Given the description of an element on the screen output the (x, y) to click on. 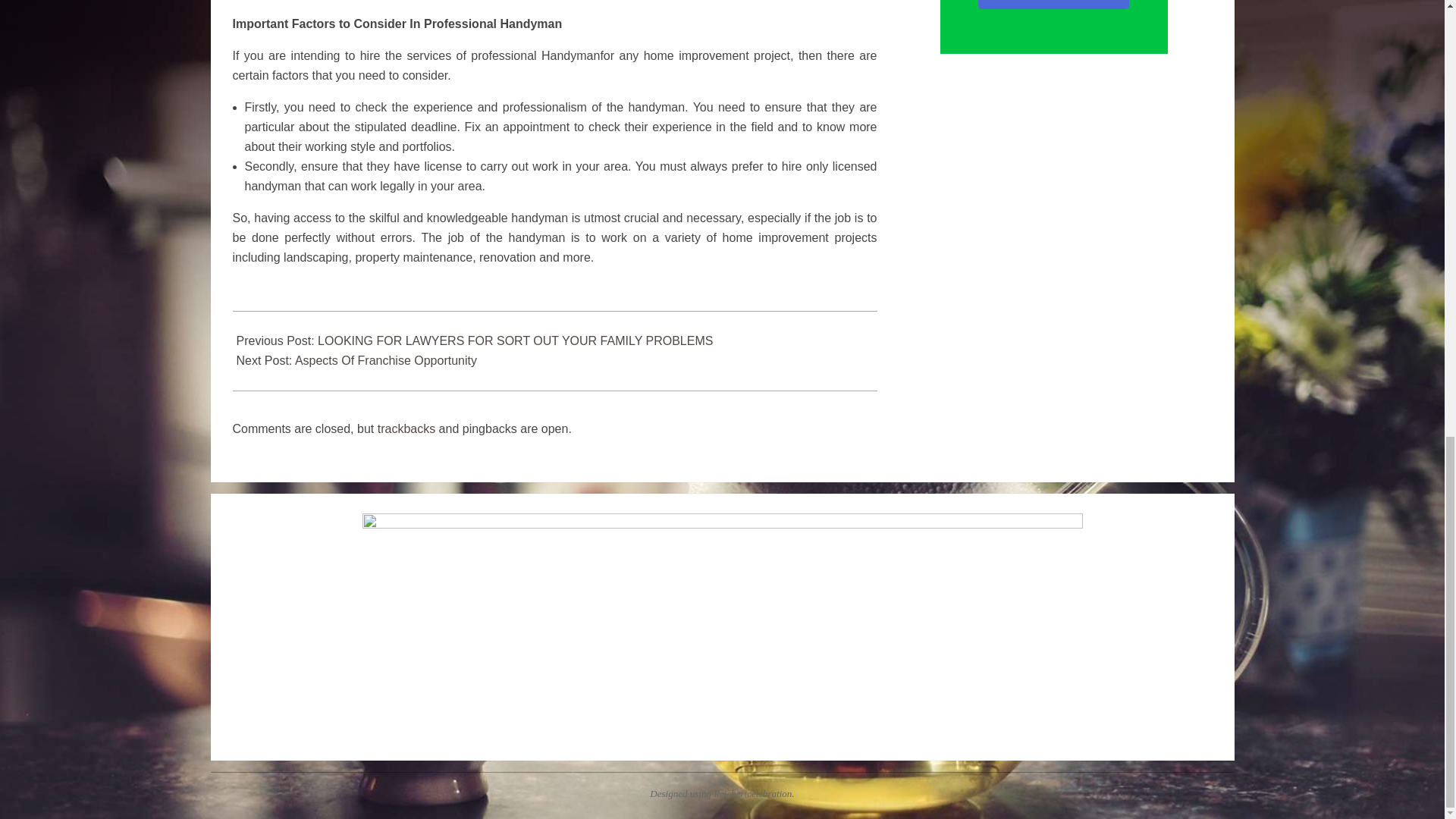
Aspects Of Franchise Opportunity (386, 359)
LOOKING FOR LAWYERS FOR SORT OUT YOUR FAMILY PROBLEMS (515, 340)
trackbacks (406, 428)
